Given the description of an element on the screen output the (x, y) to click on. 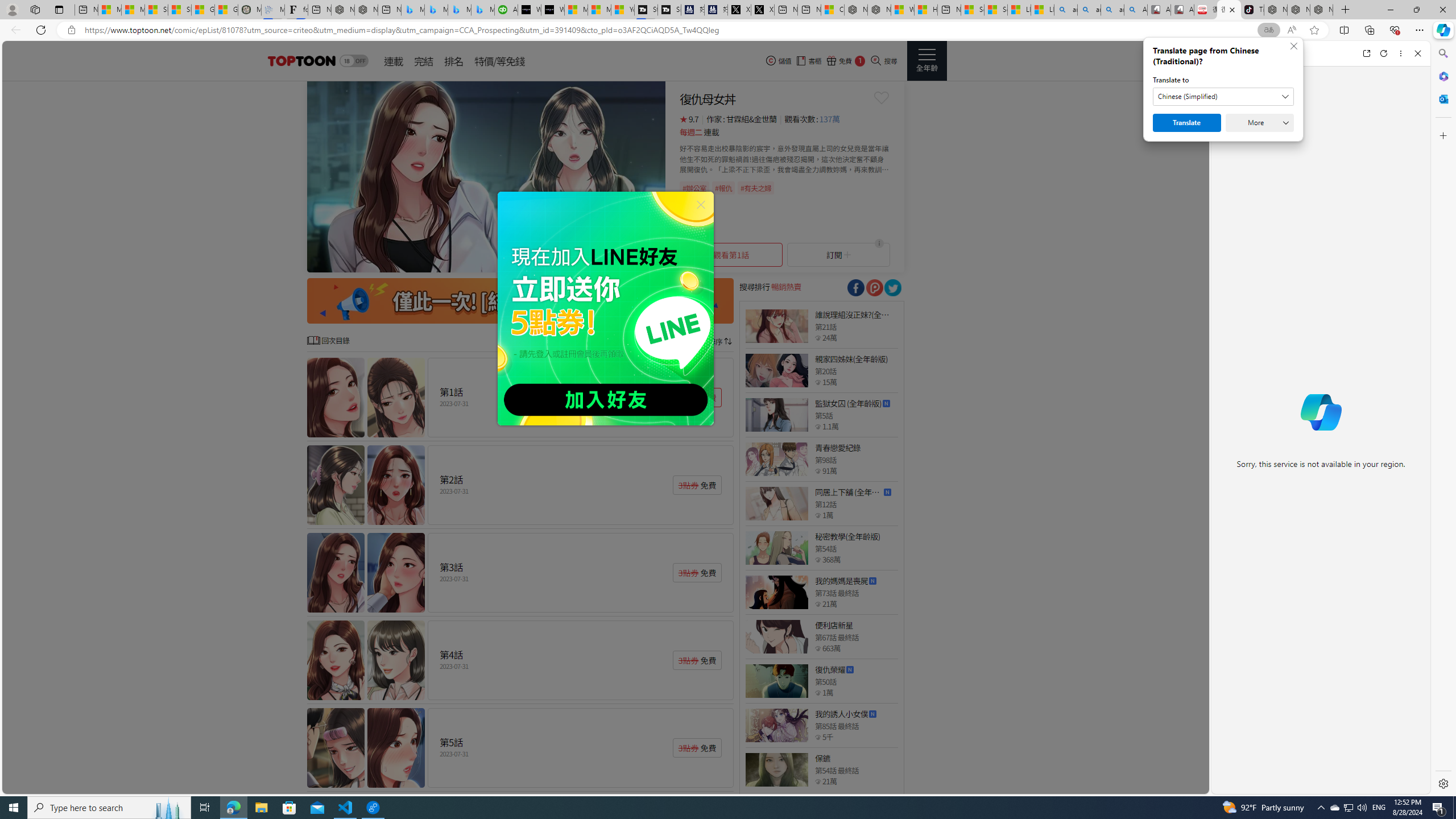
Class: epicon_starpoint (818, 781)
Microsoft Bing Travel - Shangri-La Hotel Bangkok (482, 9)
Customize (1442, 135)
Chat (1231, 52)
Translate (1187, 122)
